Given the description of an element on the screen output the (x, y) to click on. 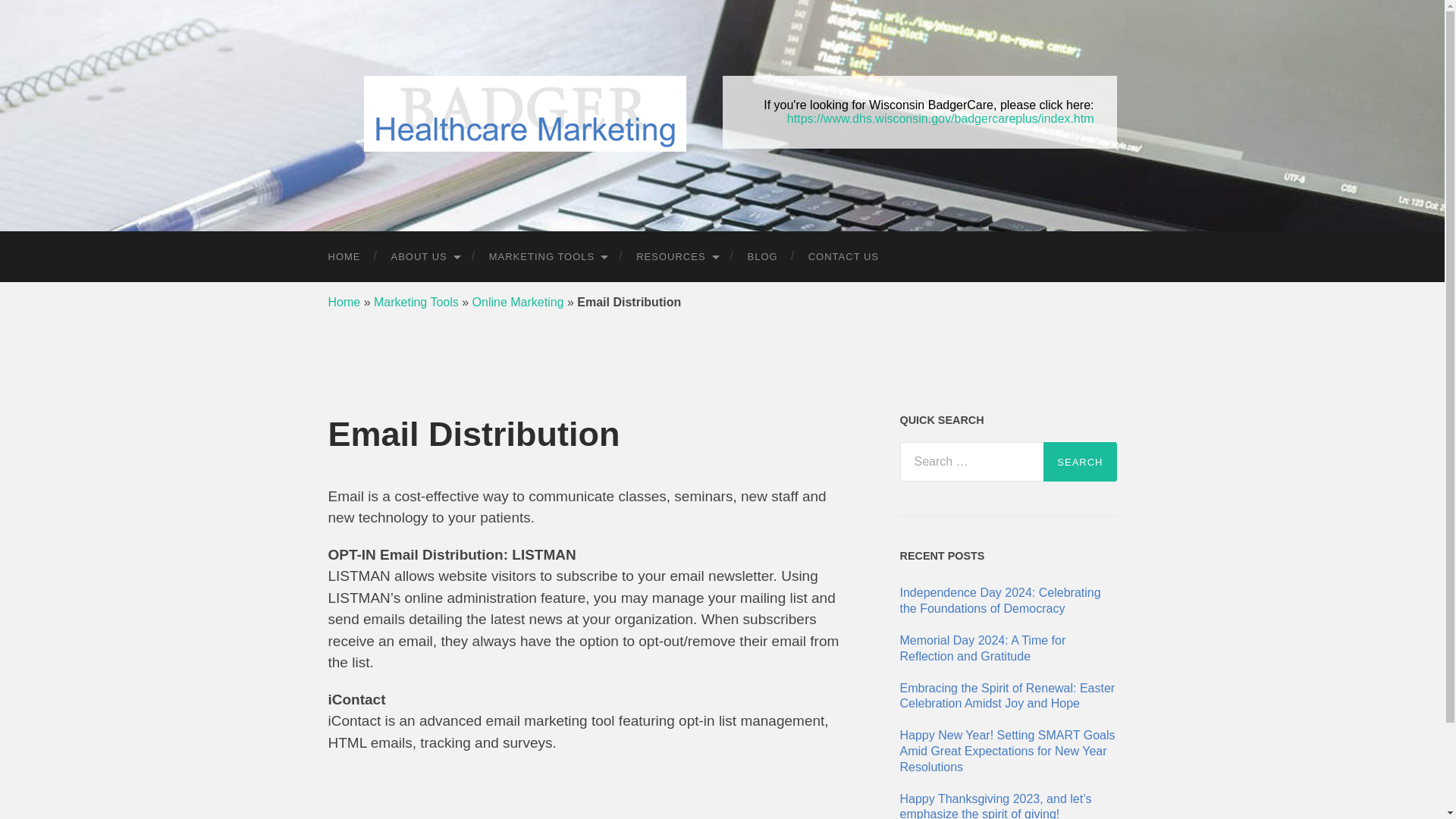
Search (1079, 461)
RESOURCES (676, 255)
Search (1079, 461)
HOME (344, 255)
Badger Healthcare (524, 113)
MARKETING TOOLS (547, 255)
ABOUT US (424, 255)
